Given the description of an element on the screen output the (x, y) to click on. 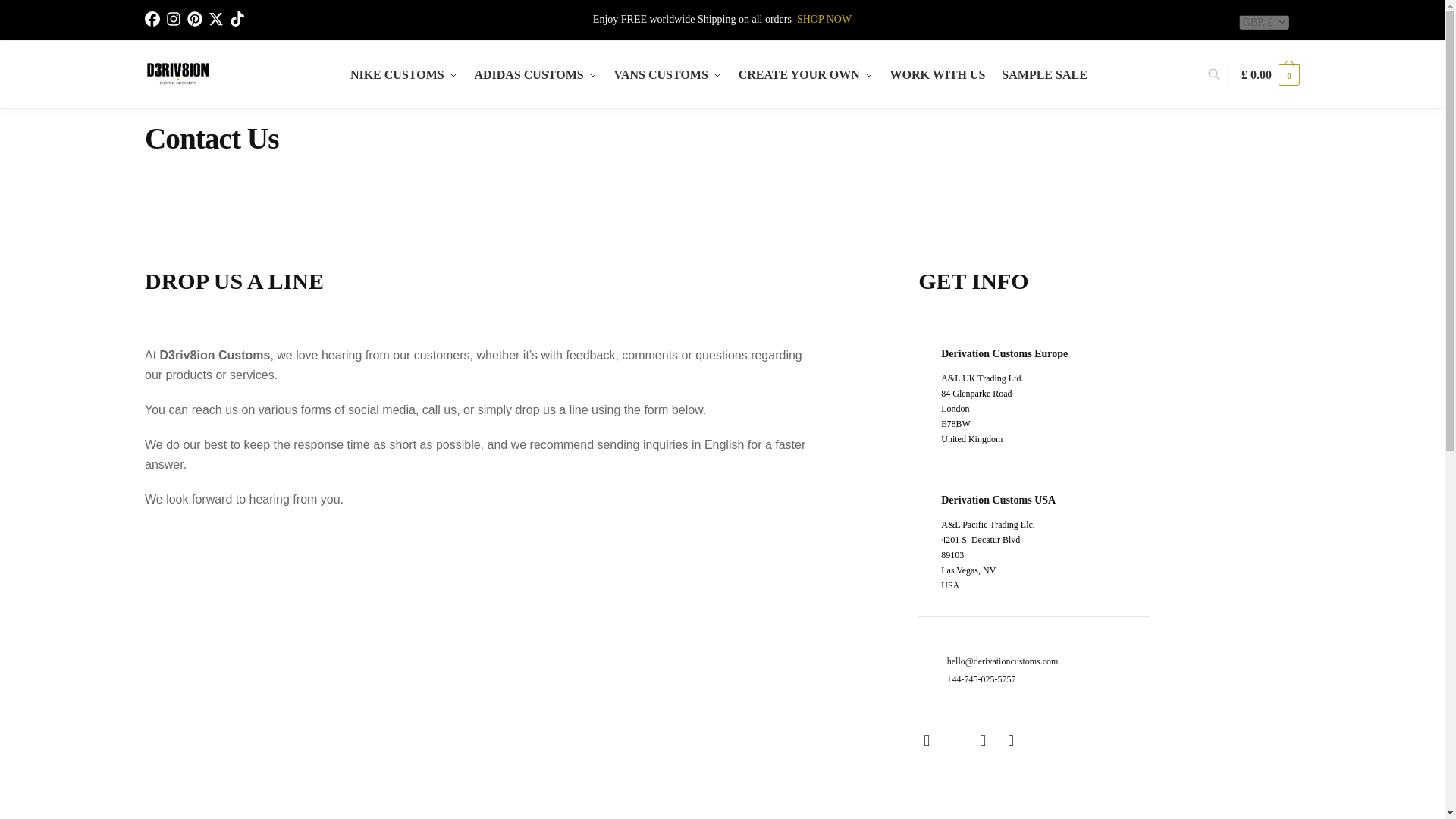
View your shopping cart (1270, 74)
Custom Nike Sneakers (823, 19)
SHOP NOW (823, 19)
ADIDAS CUSTOMS (535, 74)
NIKE CUSTOMS (407, 74)
